Given the description of an element on the screen output the (x, y) to click on. 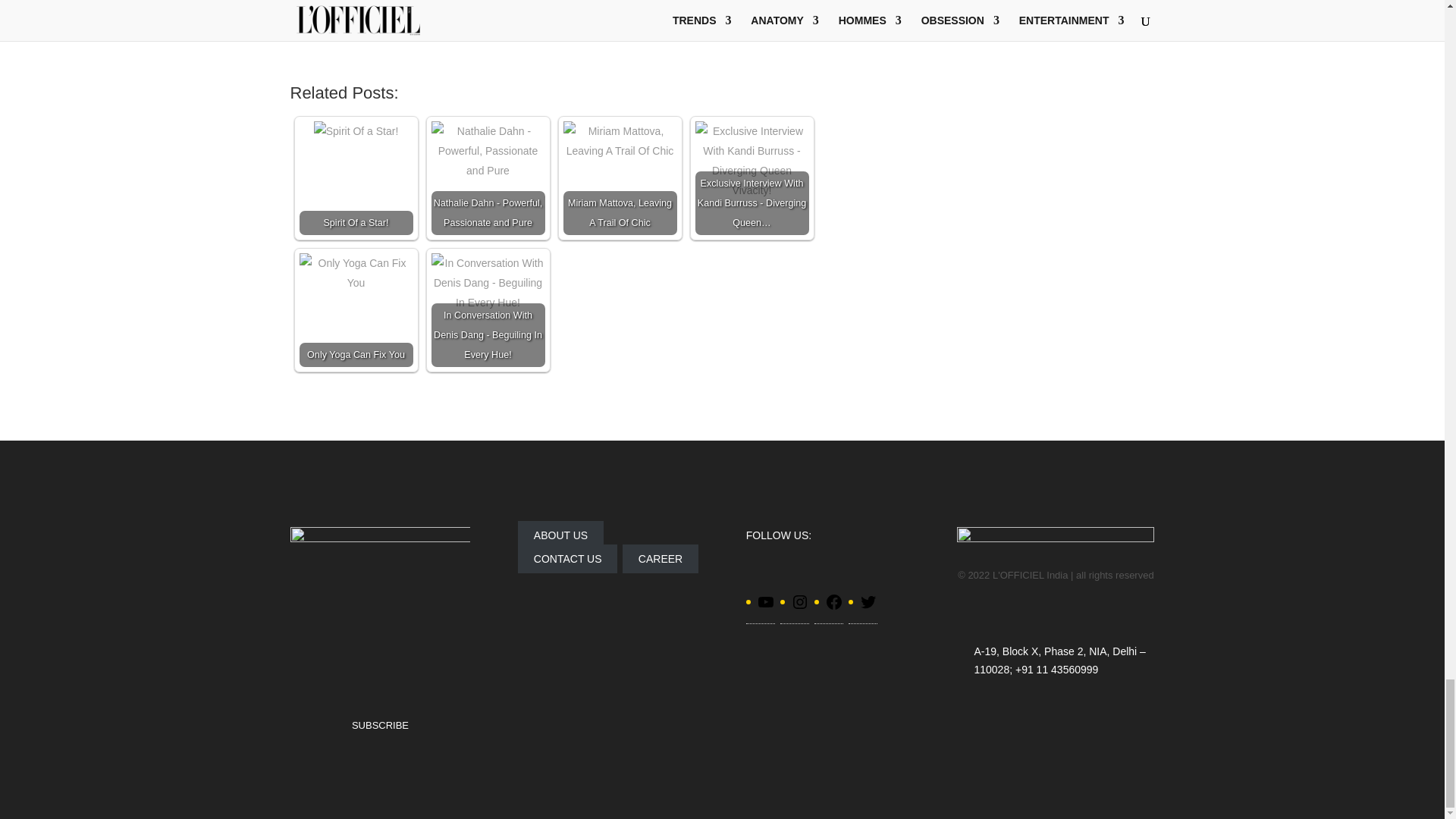
Spirit Of a Star! (356, 130)
Miriam Mattova, Leaving A Trail Of Chic (619, 140)
Nathalie Dahn - Powerful, Passionate and Pure (487, 150)
